Given the description of an element on the screen output the (x, y) to click on. 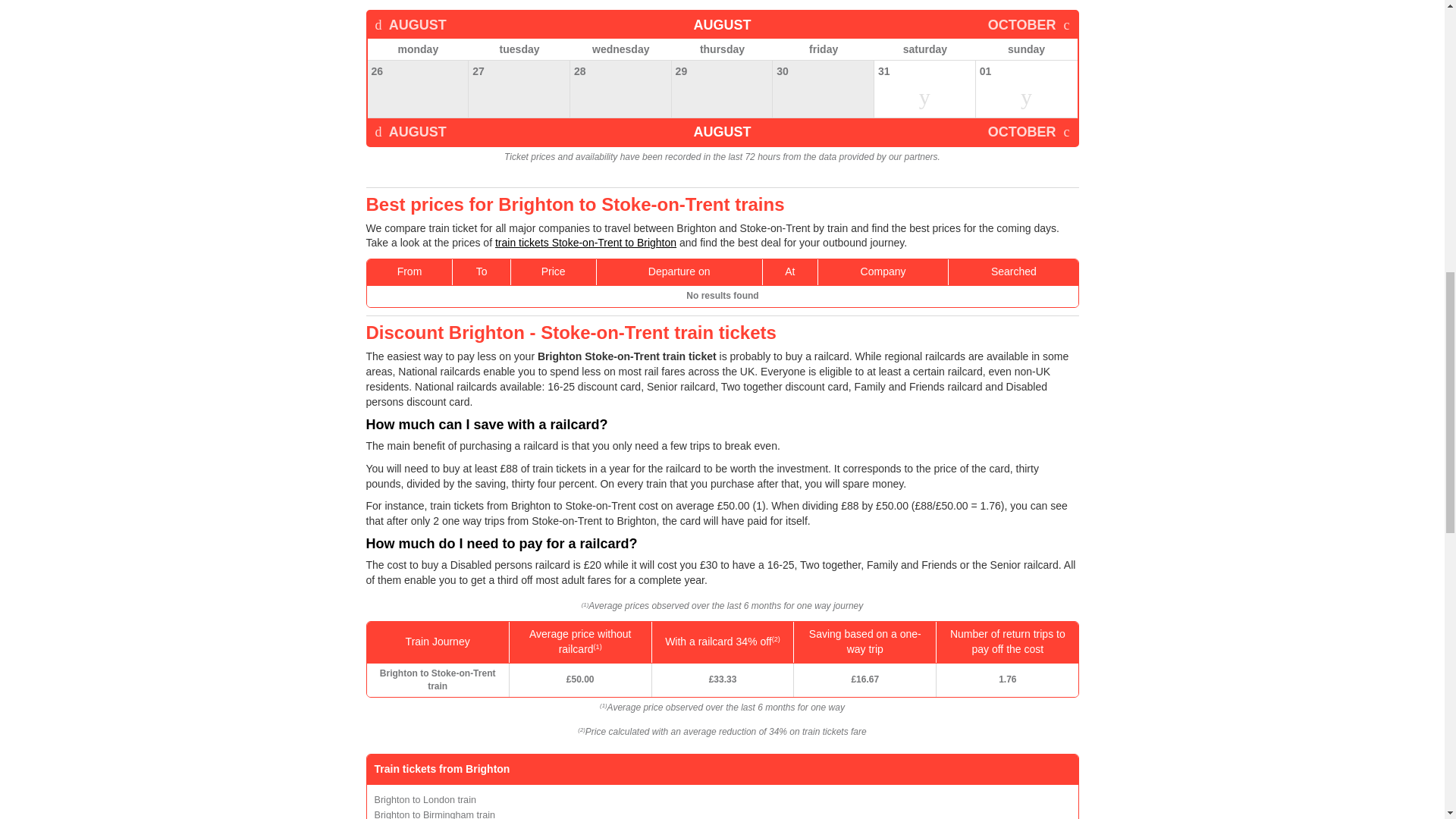
Brighton to London train (425, 799)
OCTOBER   (1029, 24)
OCTOBER   (1029, 131)
Brighton to Birmingham train (435, 814)
  AUGUST (409, 131)
train tickets Stoke-on-Trent to Brighton (586, 242)
  AUGUST (409, 24)
